Given the description of an element on the screen output the (x, y) to click on. 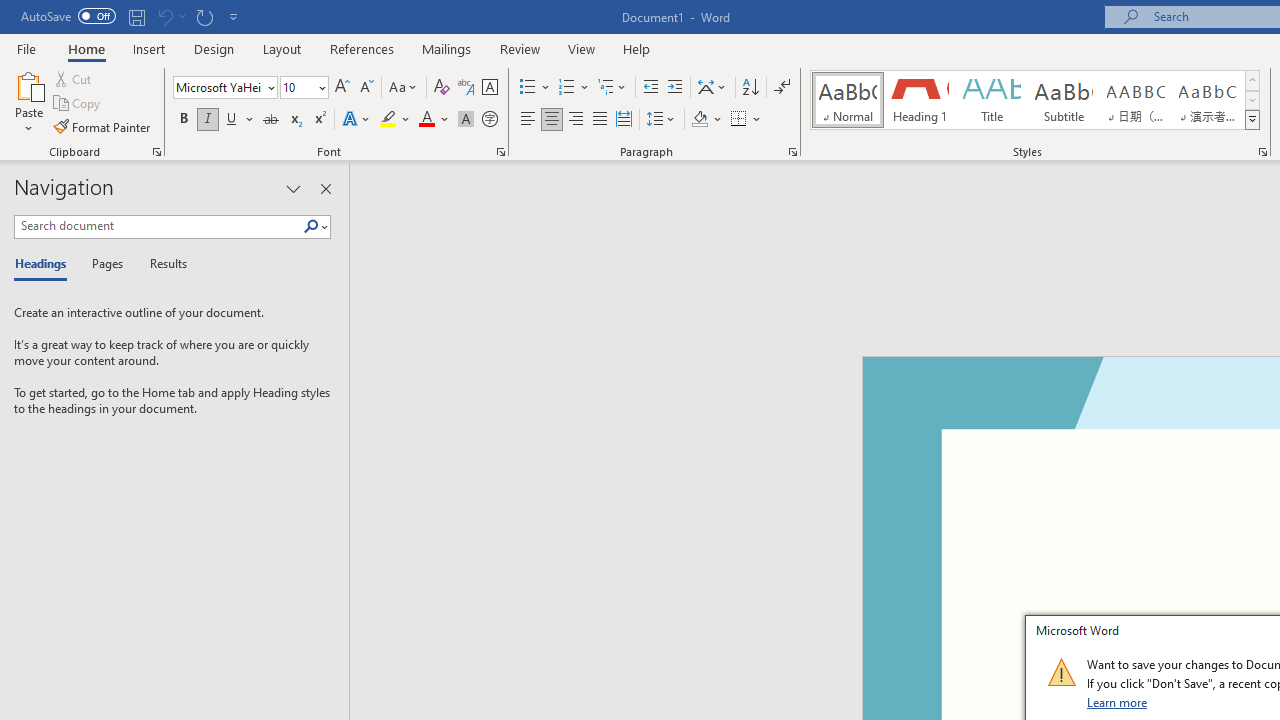
Asian Layout (712, 87)
